Given the description of an element on the screen output the (x, y) to click on. 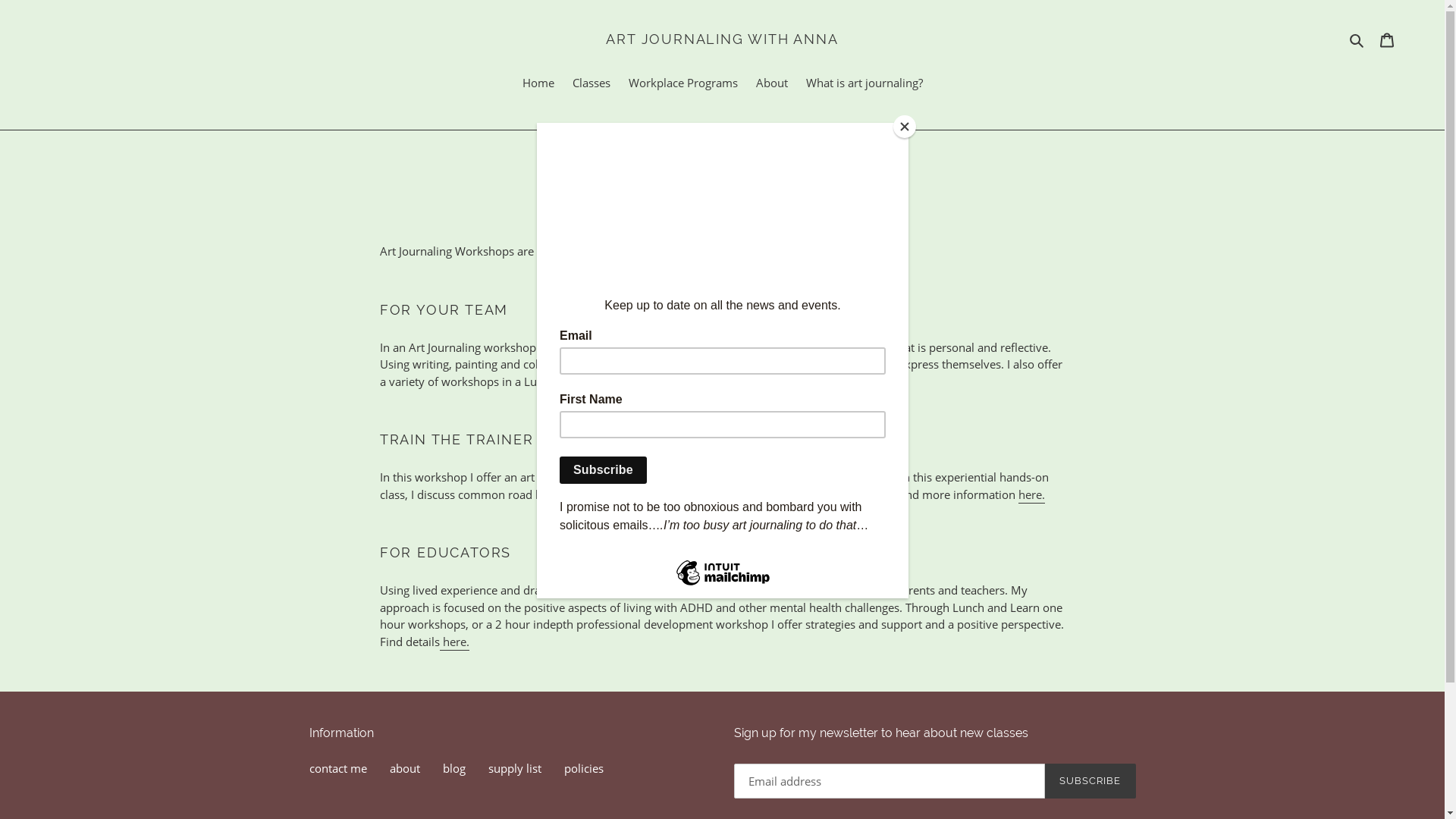
here. Element type: text (1031, 494)
 here. Element type: text (454, 641)
Cart Element type: text (1386, 38)
ART JOURNALING WITH ANNA Element type: text (721, 39)
policies Element type: text (583, 767)
blog Element type: text (453, 767)
Home Element type: text (537, 84)
Classes Element type: text (590, 84)
here. Element type: text (828, 381)
What is art journaling? Element type: text (863, 84)
Workplace Programs Element type: text (682, 84)
supply list Element type: text (514, 767)
Search Element type: text (1357, 38)
about Element type: text (404, 767)
SUBSCRIBE Element type: text (1089, 780)
About Element type: text (770, 84)
contact me Element type: text (338, 767)
